Given the description of an element on the screen output the (x, y) to click on. 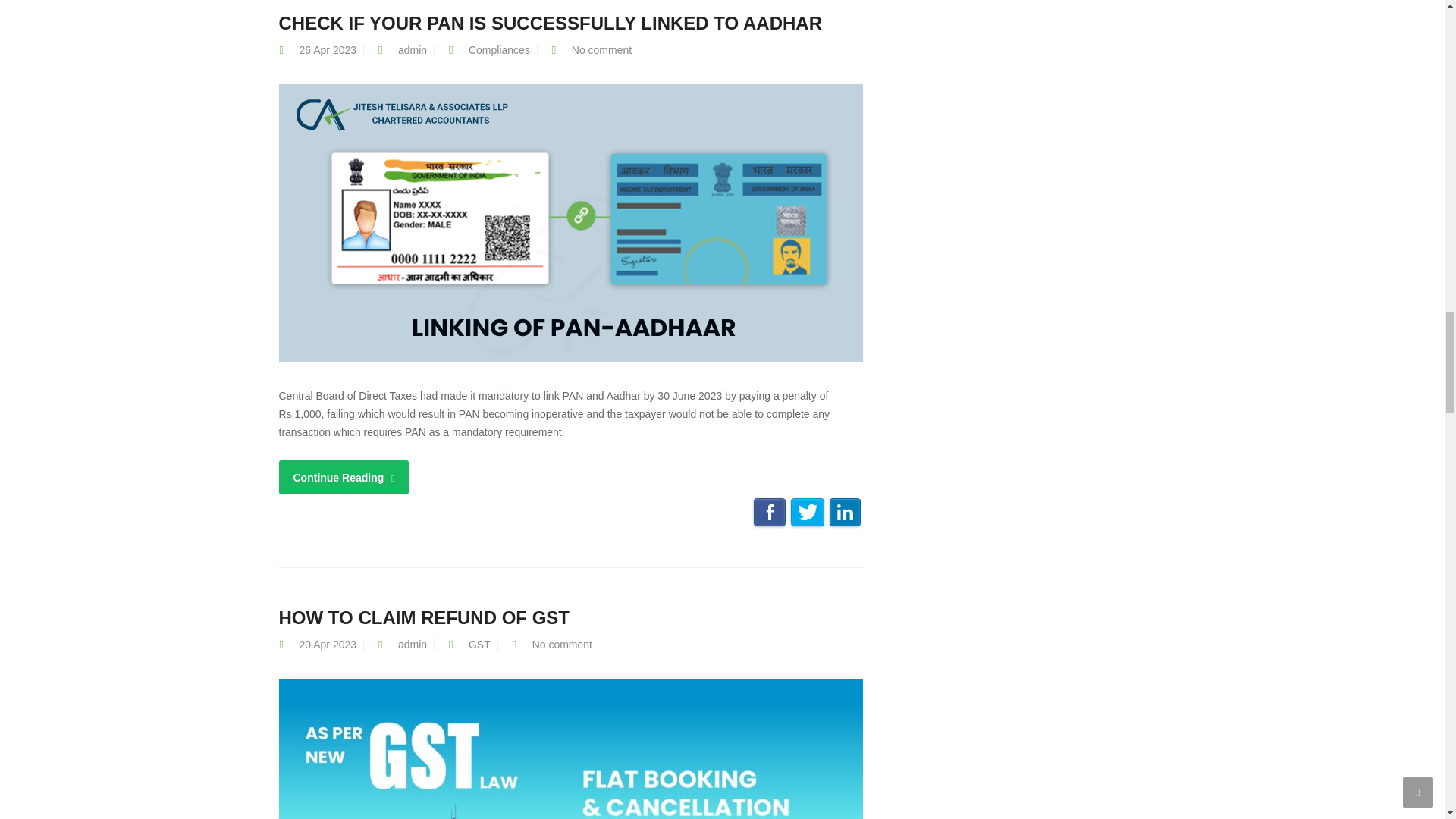
View all posts by admin (411, 644)
View all posts by admin (411, 50)
